Given the description of an element on the screen output the (x, y) to click on. 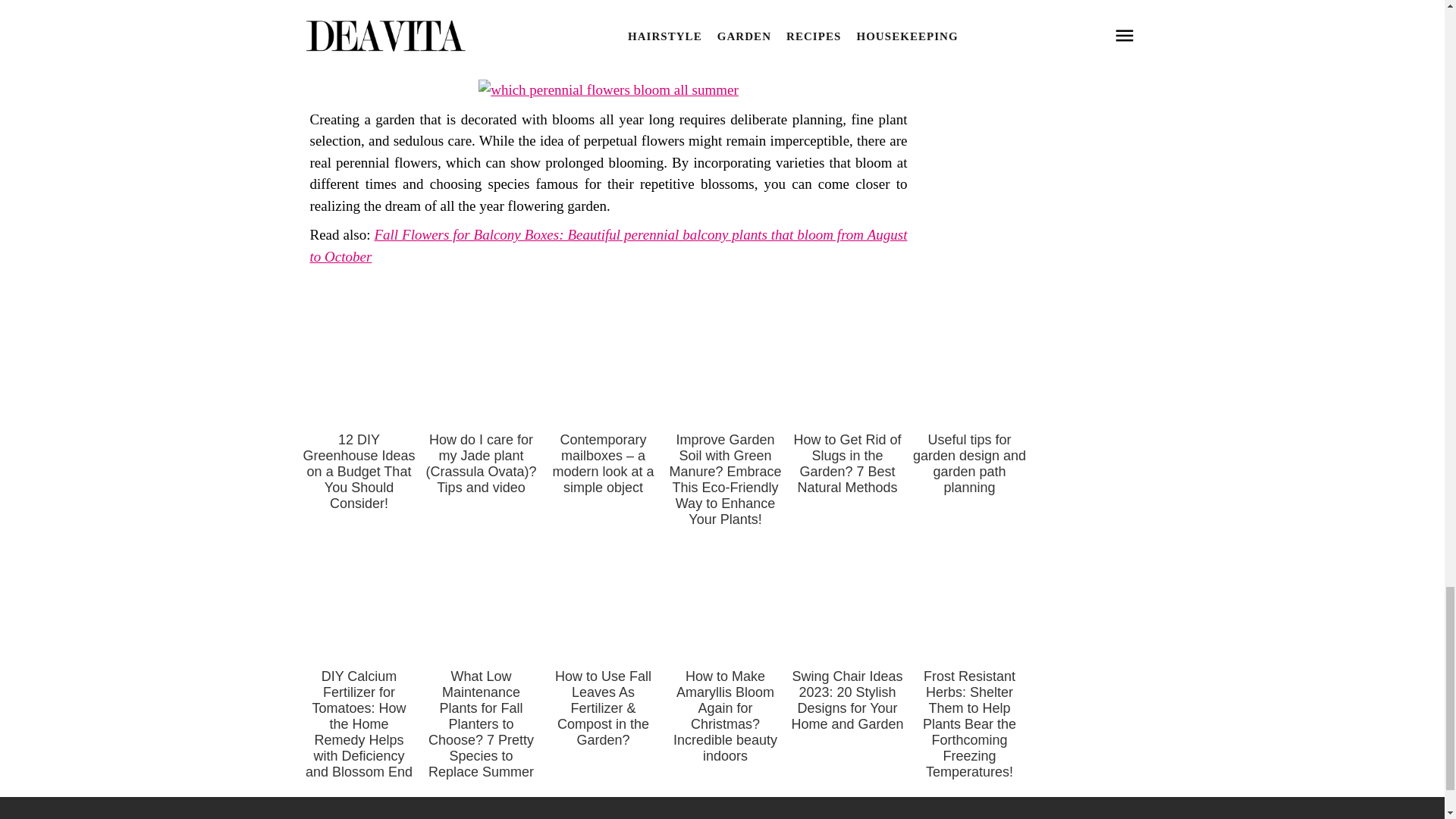
Which perennial flowers bloom all summer (608, 89)
